Given the description of an element on the screen output the (x, y) to click on. 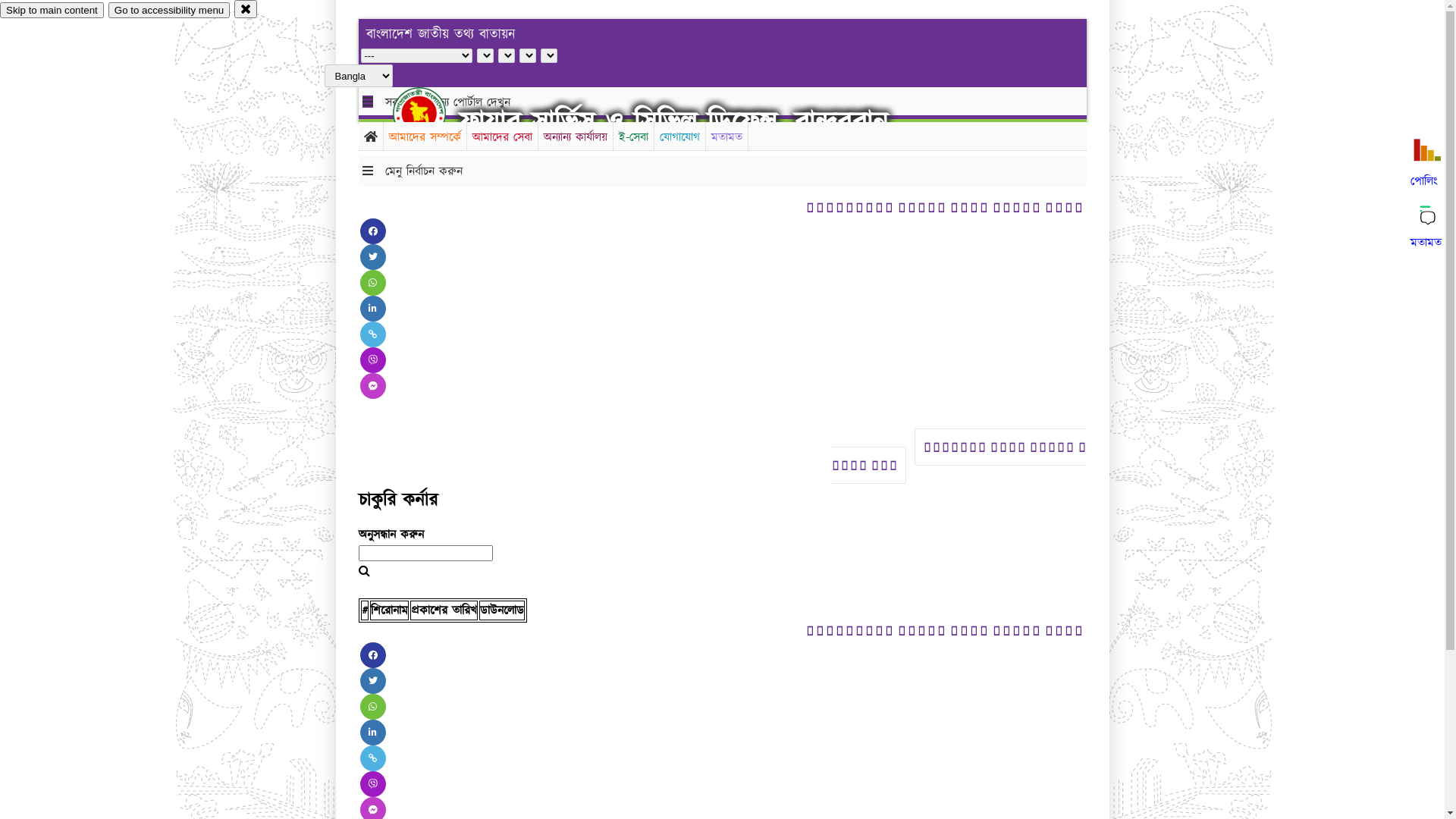
Skip to main content Element type: text (51, 10)
close Element type: hover (245, 9)

                
             Element type: hover (431, 112)
Go to accessibility menu Element type: text (168, 10)
